Given the description of an element on the screen output the (x, y) to click on. 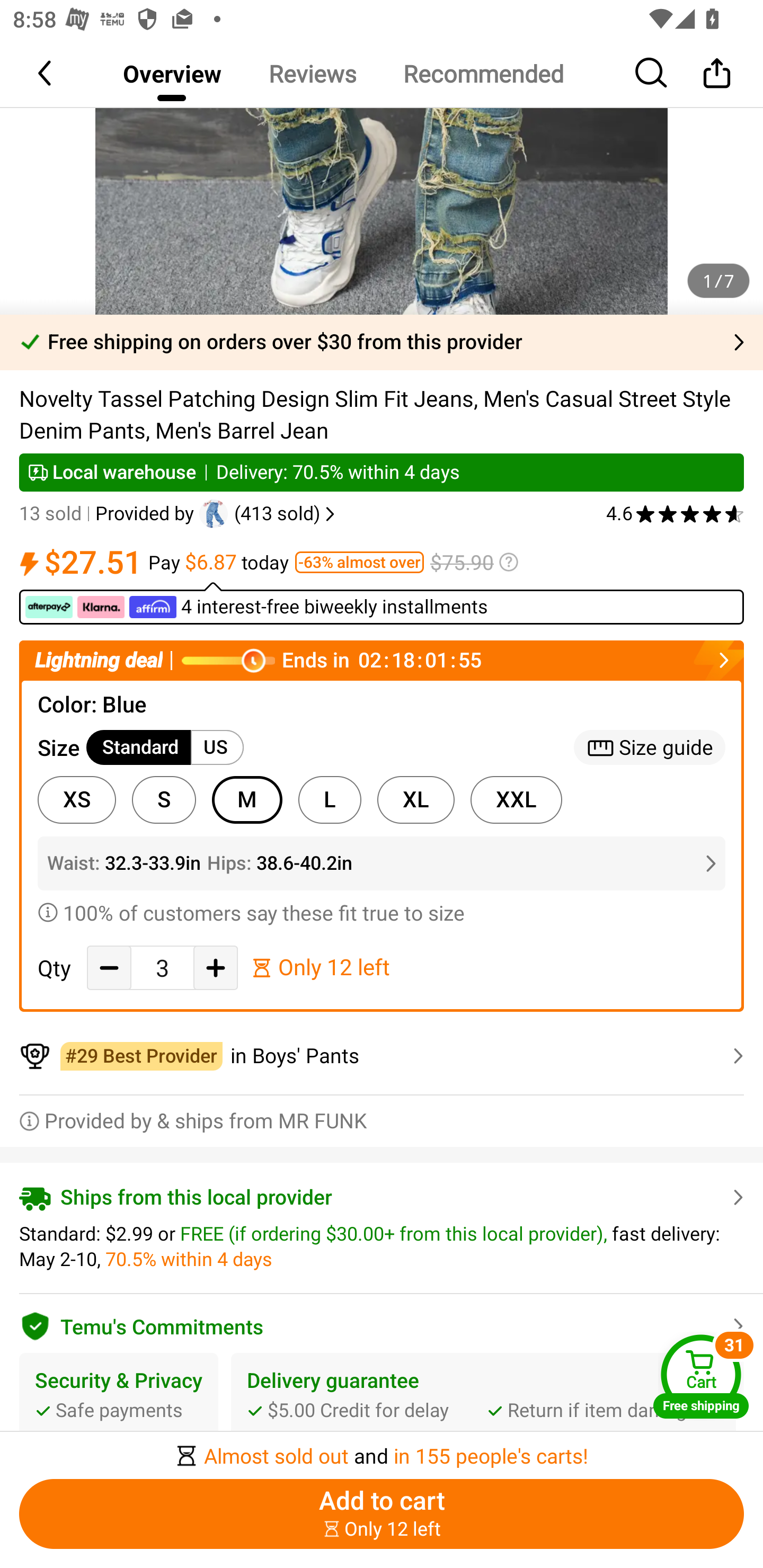
Overview (171, 72)
Reviews (311, 72)
Recommended (482, 72)
Back (46, 72)
Share (716, 72)
Local warehouse Delivery: 70.5% within 4 days (381, 472)
13 sold Provided by  (109, 514)
4.6 (674, 514)
￼ ￼ ￼ 4 interest-free biweekly installments (381, 602)
Lightning deal Ends in￼￼ (381, 659)
Standard (138, 747)
US (216, 747)
 Size guide (649, 747)
XS (76, 799)
S (163, 799)
M (247, 799)
L (329, 799)
XL (415, 799)
XXL (516, 799)
Waist: 32.3-33.9in￼Hips: 38.6-40.2in￼ (381, 862)
  100% of customers say these fit true to size (381, 912)
Decrease Quantity Button (108, 967)
Add Quantity button (215, 967)
3 (162, 968)
￼￼in Boys' Pants (381, 1055)
Temu's Commitments (381, 1323)
Cart Free shipping Cart (701, 1375)
Security & Privacy Safe payments Secure privacy (118, 1410)
￼￼Almost sold out and in 155 people's carts! (381, 1450)
Add to cart ￼￼Only 12 left (381, 1513)
